Given the description of an element on the screen output the (x, y) to click on. 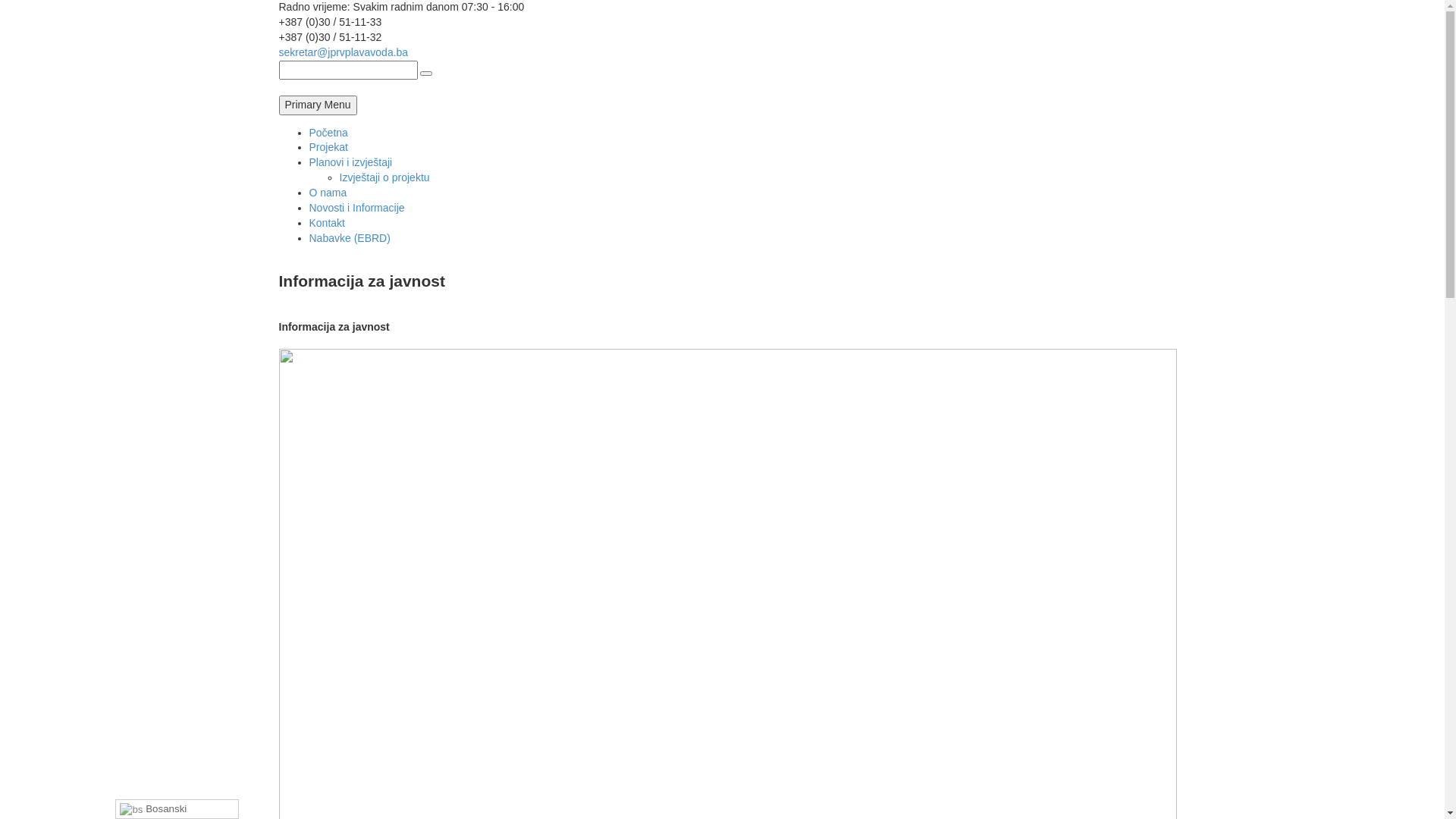
Kontakt Element type: text (327, 222)
Search Element type: text (426, 73)
Novosti i Informacije Element type: text (356, 207)
Nabavke (EBRD) Element type: text (349, 238)
Primary Menu Element type: text (318, 105)
sekretar@jprvplavavoda.ba Element type: text (343, 52)
O nama Element type: text (328, 192)
Projekat Element type: text (328, 147)
